Given the description of an element on the screen output the (x, y) to click on. 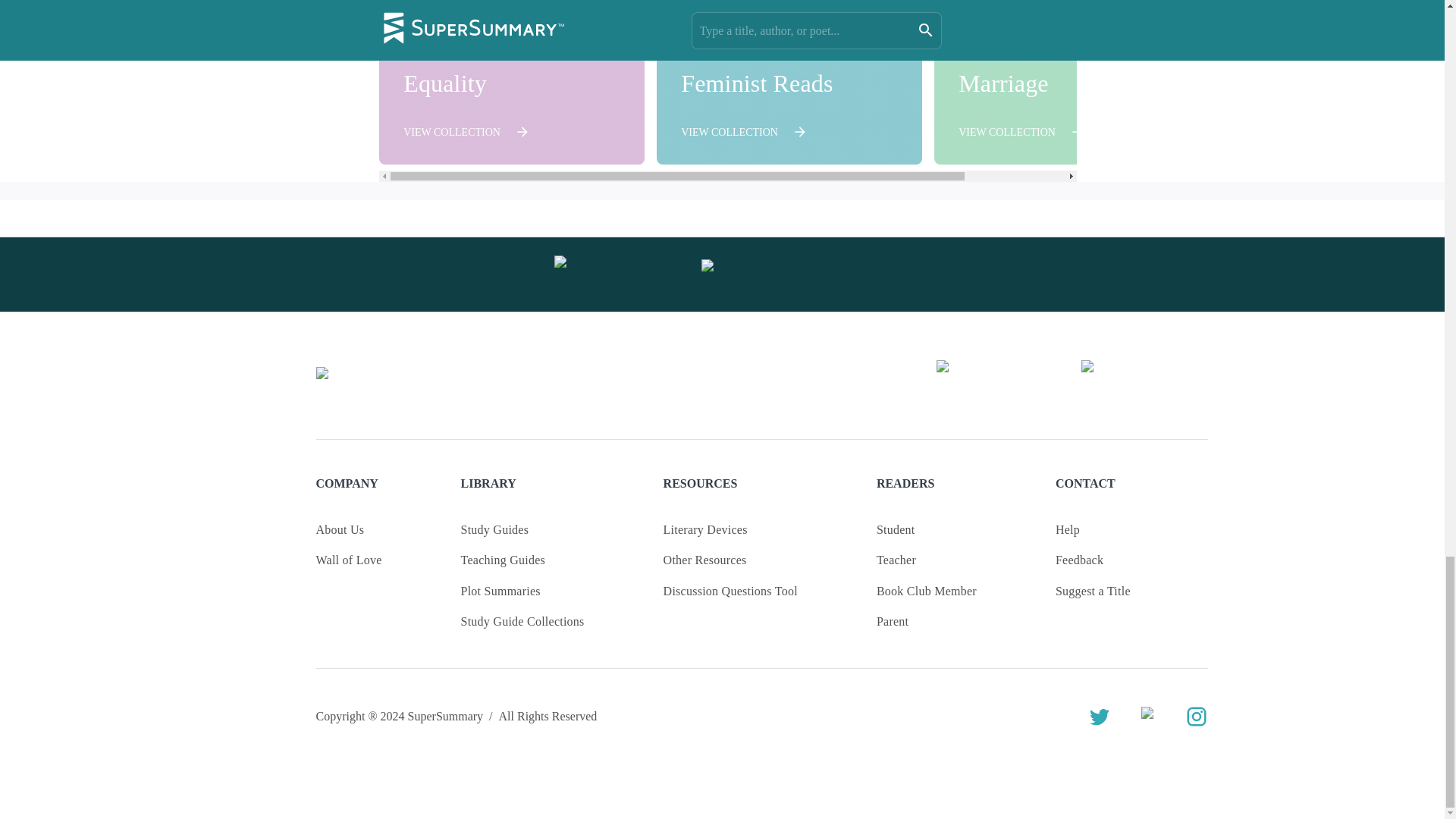
Plot Summaries (500, 591)
Literary Devices (788, 82)
About Us (705, 529)
Study Guide Collections (339, 529)
Teaching Guides (511, 82)
Study Guides (1066, 82)
Wall of Love (523, 621)
